Given the description of an element on the screen output the (x, y) to click on. 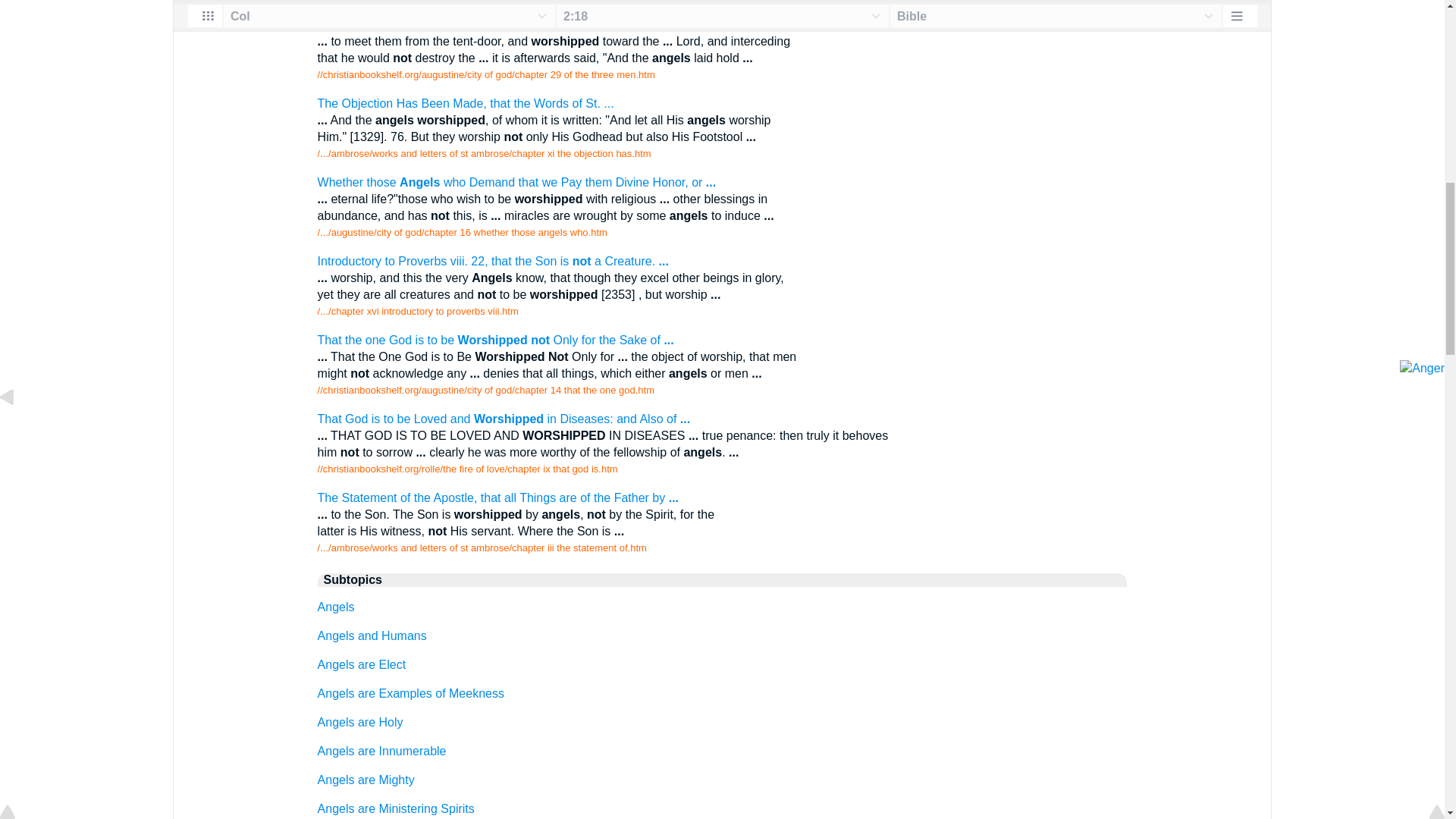
Top of Page (18, 1)
Angels are Holy (360, 721)
Angels are Examples of Meekness (410, 693)
The Objection Has Been Made, that the Words of St. ... (465, 103)
Angels are Ministering Spirits (395, 808)
Angels are Mighty (365, 779)
Angels (336, 606)
Angels are Innumerable (381, 750)
Angels are Elect (361, 664)
Angels and Humans (371, 635)
